Given the description of an element on the screen output the (x, y) to click on. 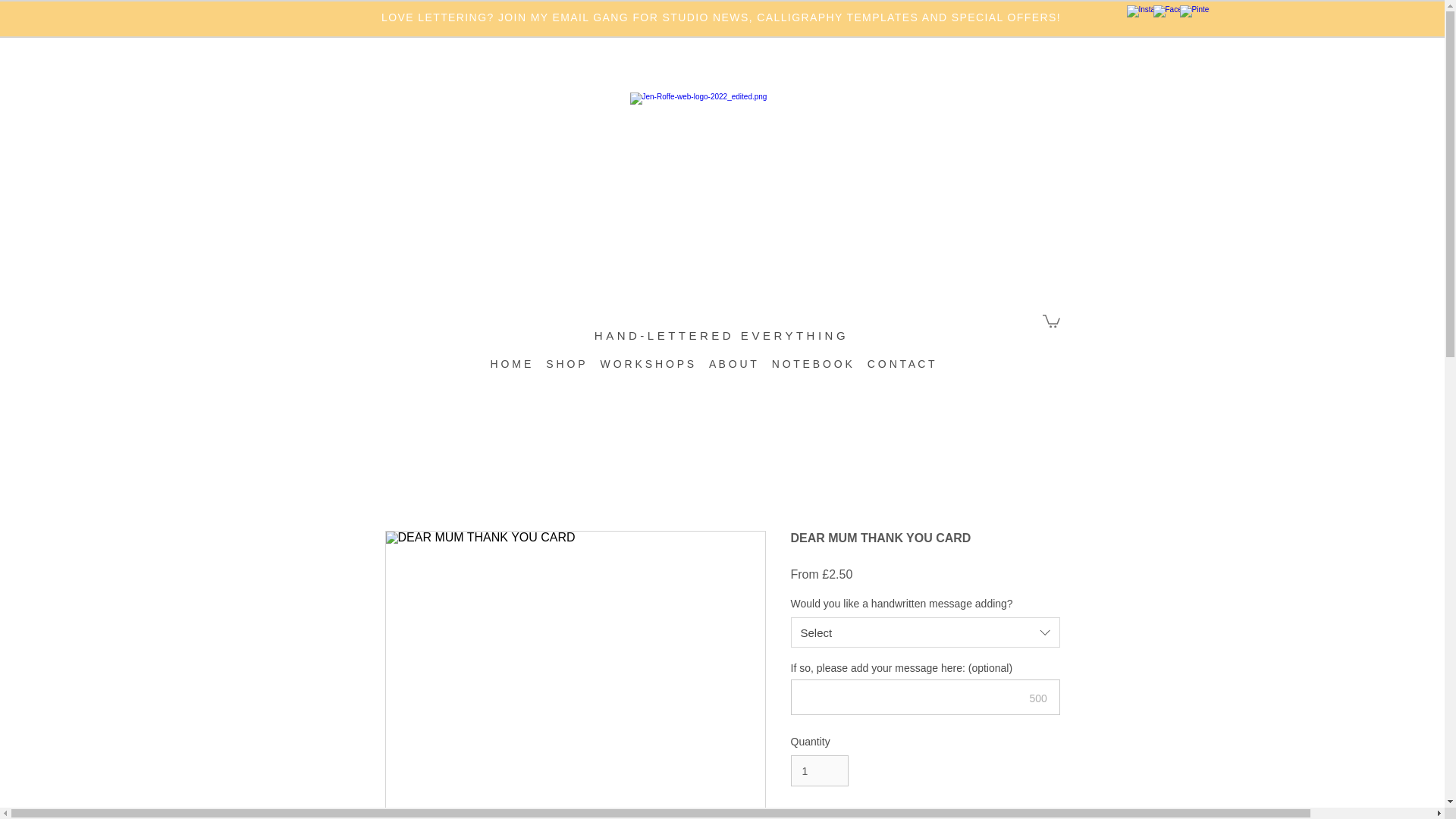
jen roffe 2016.png (715, 175)
H O M E (510, 372)
S H O P (565, 372)
ADD TO BASKET (924, 814)
A B O U T (732, 372)
N O T E B O O K (812, 372)
W O R K S H O P S (646, 372)
1 (818, 770)
C O N T A C T (901, 372)
Select (924, 632)
